Given the description of an element on the screen output the (x, y) to click on. 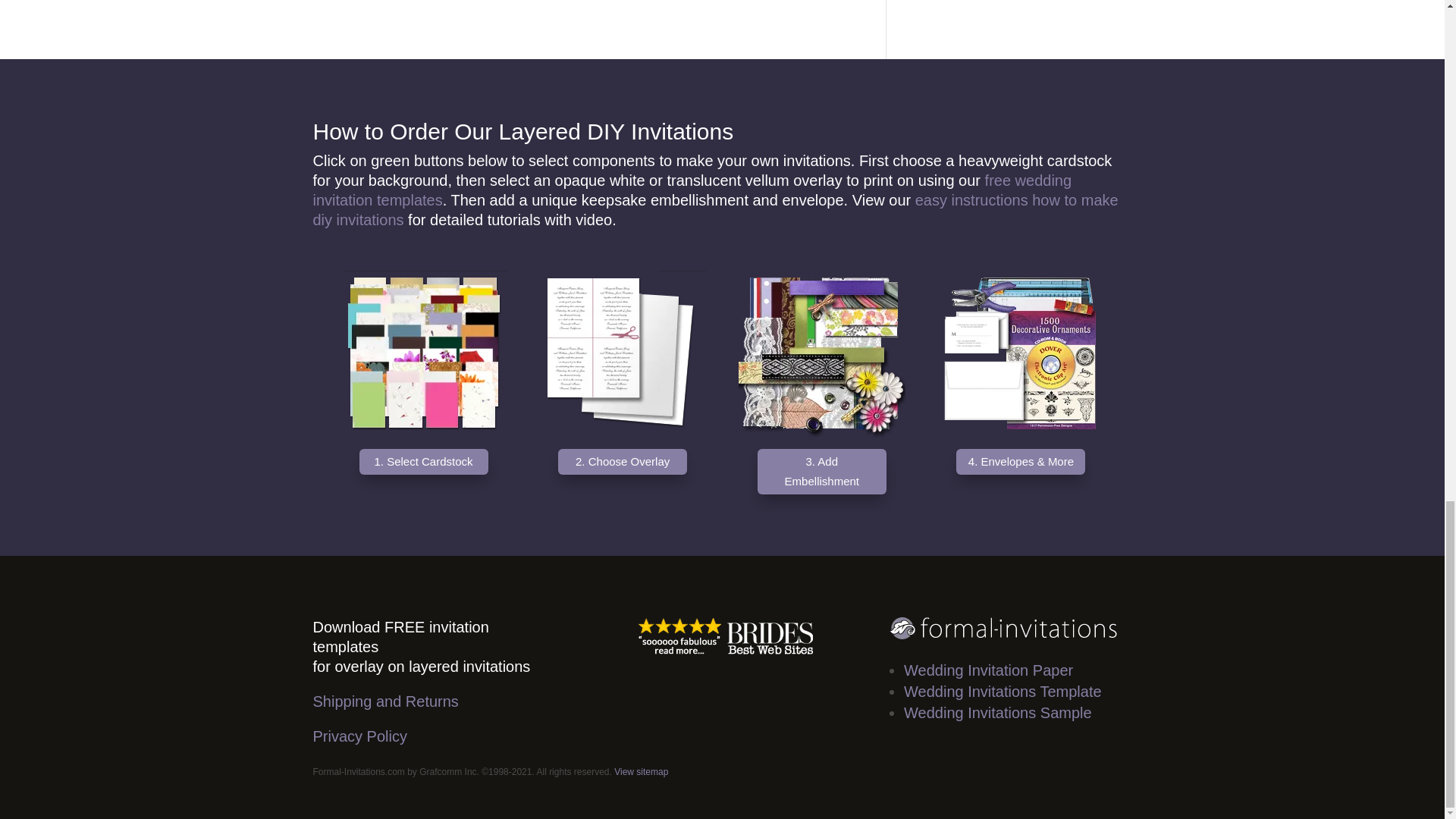
fi-logo-rev-300 (1002, 628)
reviews (721, 635)
order-embellishments (821, 354)
order-cardstock (423, 354)
order-overlay (622, 354)
order-envelopes (1020, 354)
